Given the description of an element on the screen output the (x, y) to click on. 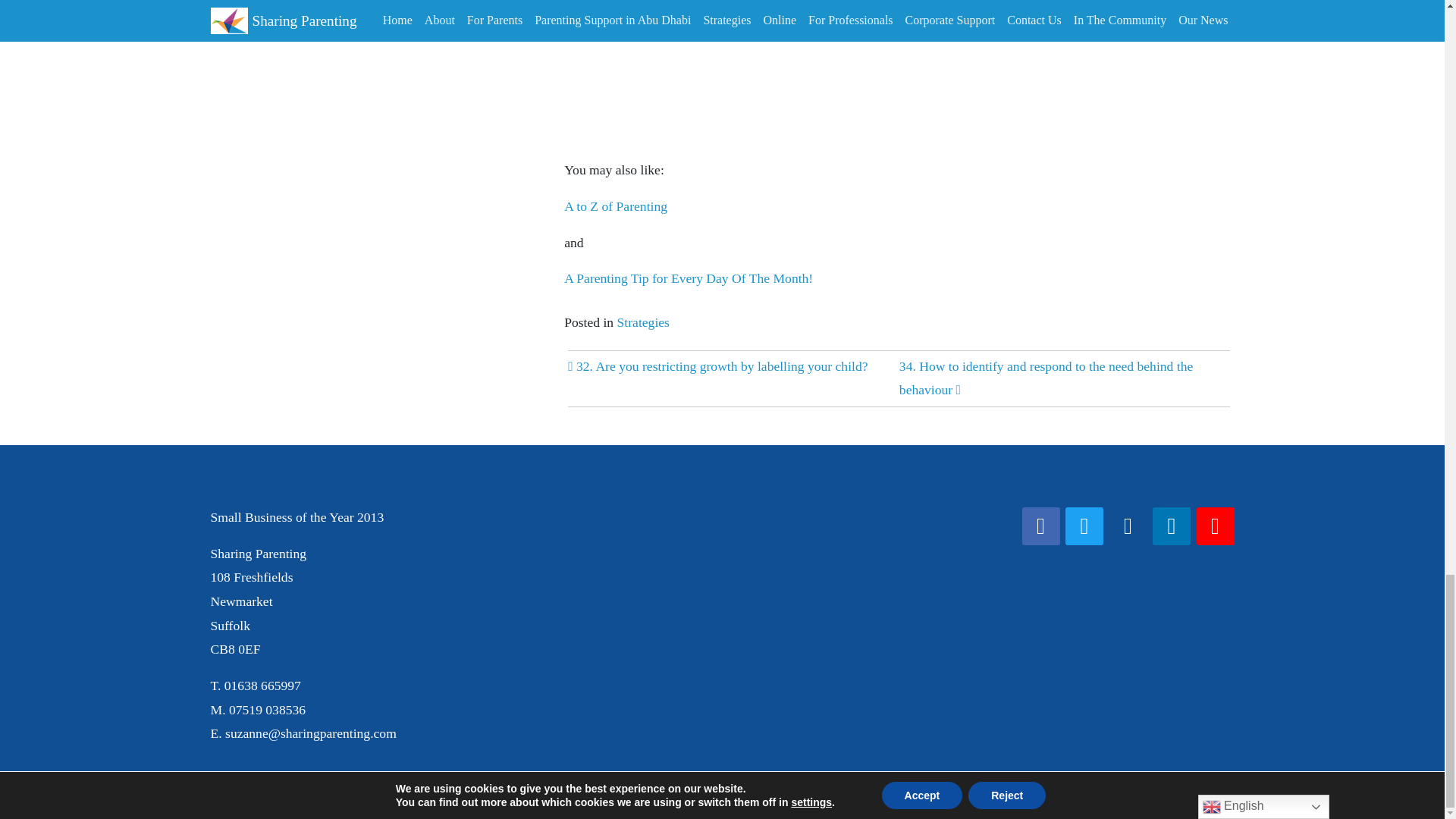
A to Z of Parenting (615, 206)
 32. Are you restricting growth by labelling your child? (717, 365)
A Parenting Tip for Every Day Of The Month! (688, 278)
Visit us on Twitter (1084, 525)
Visit us on Instagram (1127, 525)
Visit us on Facebook (1040, 525)
Strategies (643, 322)
